Given the description of an element on the screen output the (x, y) to click on. 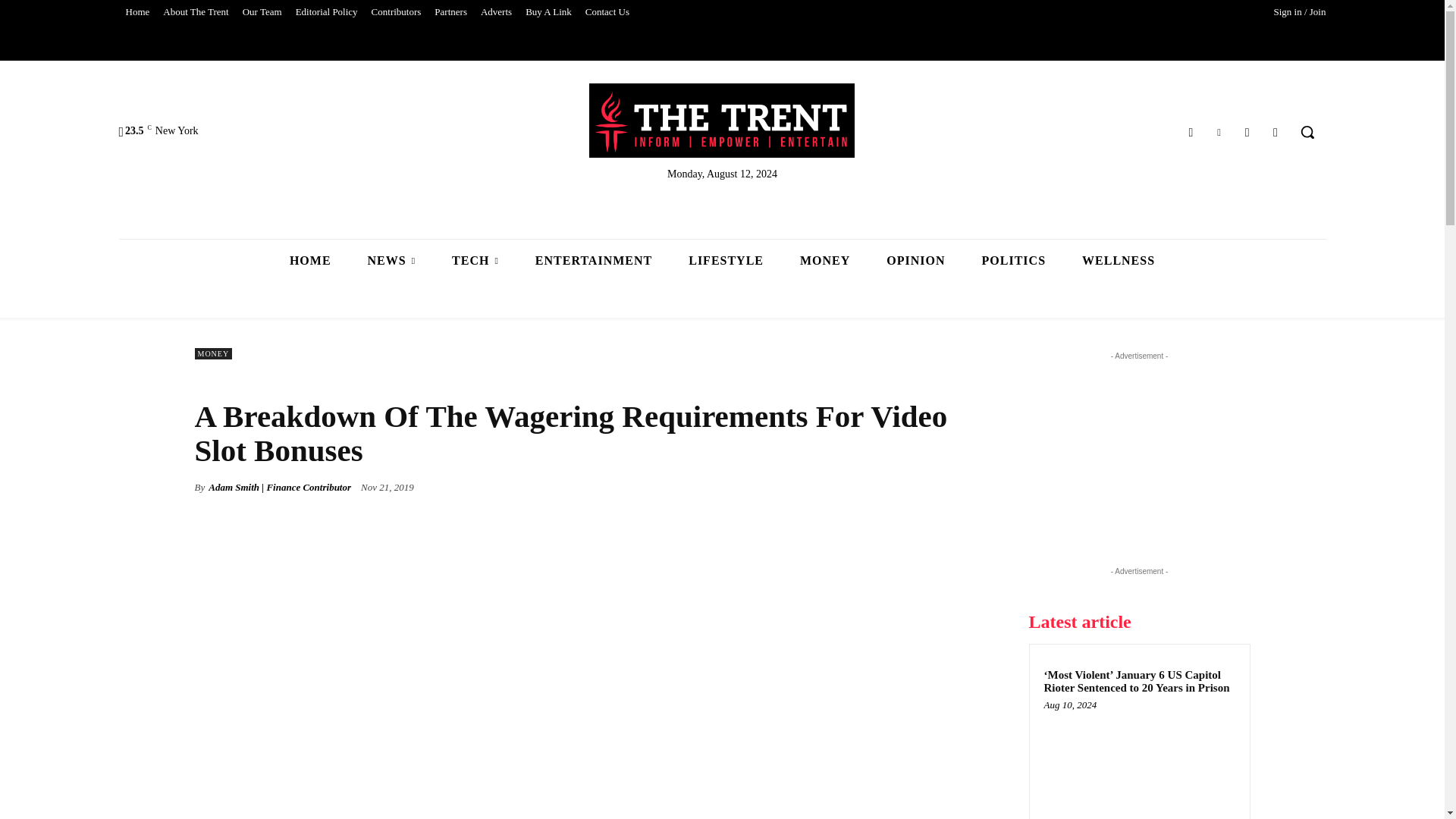
Facebook (1190, 132)
Instagram (1246, 132)
Twitter (1218, 132)
Rss (1275, 132)
